Given the description of an element on the screen output the (x, y) to click on. 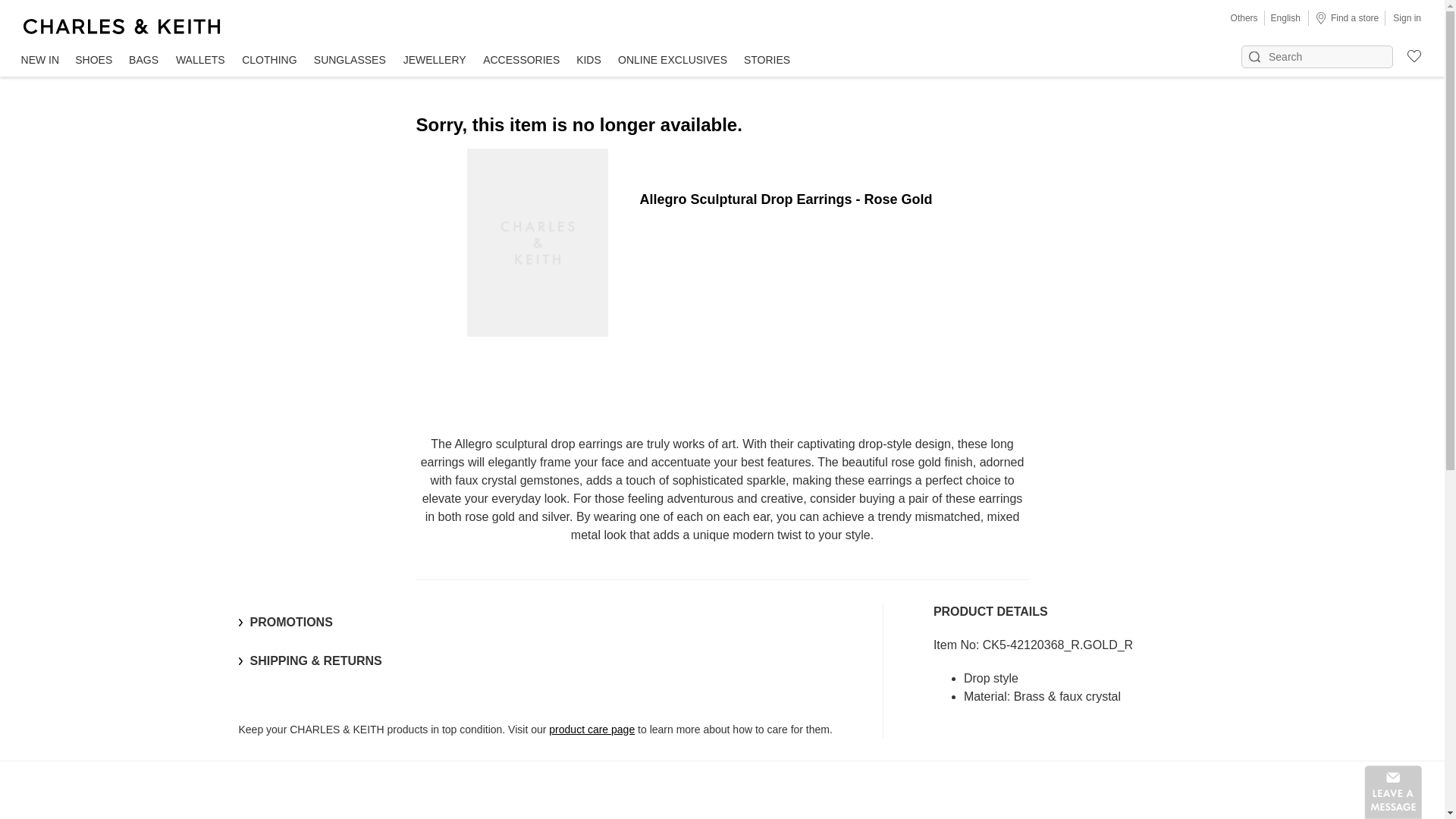
ACCESSORIES (520, 60)
Sign in (1407, 18)
Others (1243, 18)
JEWELLERY (434, 60)
SUNGLASSES (349, 60)
Find a store (1346, 18)
NEW IN (39, 60)
SHOES (93, 60)
KIDS (588, 60)
STORIES (766, 60)
BAGS (143, 60)
ONLINE EXCLUSIVES (673, 60)
WALLETS (199, 60)
CLOTHING (268, 60)
wishlist (1407, 53)
